Given the description of an element on the screen output the (x, y) to click on. 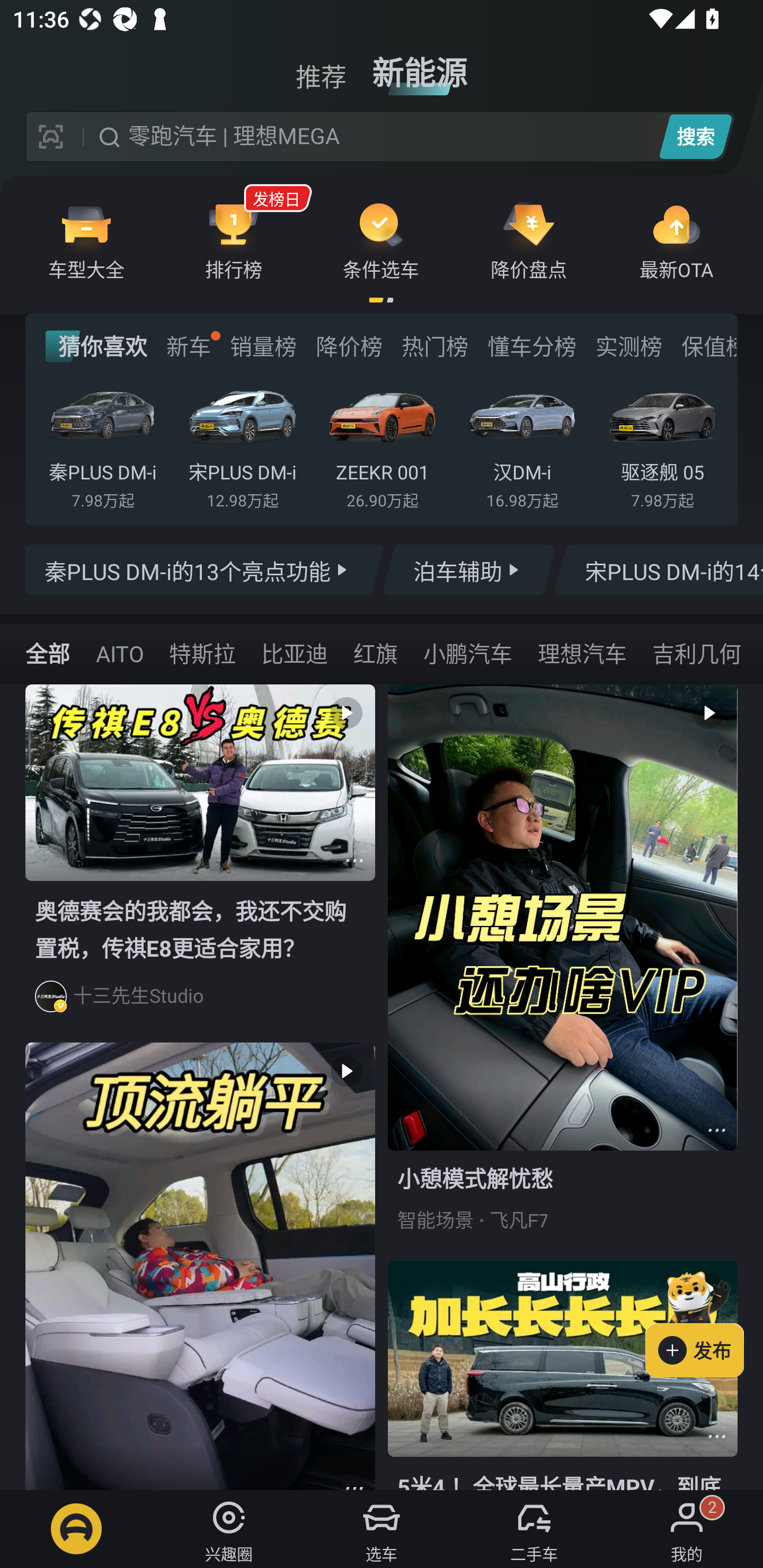
推荐 (321, 65)
新能源 (419, 65)
搜索 (695, 136)
车型大全 (86, 240)
发榜日 排行榜 (233, 240)
条件选车 (380, 240)
降价盘点 (528, 240)
最新OTA (676, 240)
猜你喜欢 (96, 346)
新车 (188, 346)
销量榜 (262, 346)
降价榜 (348, 346)
热门榜 (434, 346)
懂车分榜 (531, 346)
实测榜 (628, 346)
保值榜 (708, 346)
秦PLUS DM-i 7.98万起 (102, 442)
宋PLUS DM-i 12.98万起 (242, 442)
ZEEKR 001 26.90万起 (382, 442)
汉DM-i 16.98万起 (522, 442)
驱逐舰 05 7.98万起 (662, 442)
秦PLUS DM-i的13个亮点功能 (204, 569)
泊车辅助 (468, 569)
宋PLUS DM-i的14个亮点功能 (658, 569)
全部 (47, 652)
AITO (119, 652)
特斯拉 (202, 652)
比亚迪 (294, 652)
红旗 (375, 652)
小鹏汽车 (467, 652)
理想汽车 (581, 652)
吉利几何 (696, 652)
  奥德赛会的我都会，我还不交购置税，传祺E8更适合家用？ 十三先生Studio (200, 862)
  小憩模式解忧愁 智能场景 飞凡F7 (562, 971)
 (354, 860)
  (200, 1265)
 (716, 1130)
飞凡F7 (518, 1220)
  5米4 ！全球最长量产MPV，到底好不好开？ (562, 1374)
发布 (704, 1320)
 (716, 1436)
 兴趣圈 (228, 1528)
 选车 (381, 1528)
 二手车 (533, 1528)
 我的 (686, 1528)
